Given the description of an element on the screen output the (x, y) to click on. 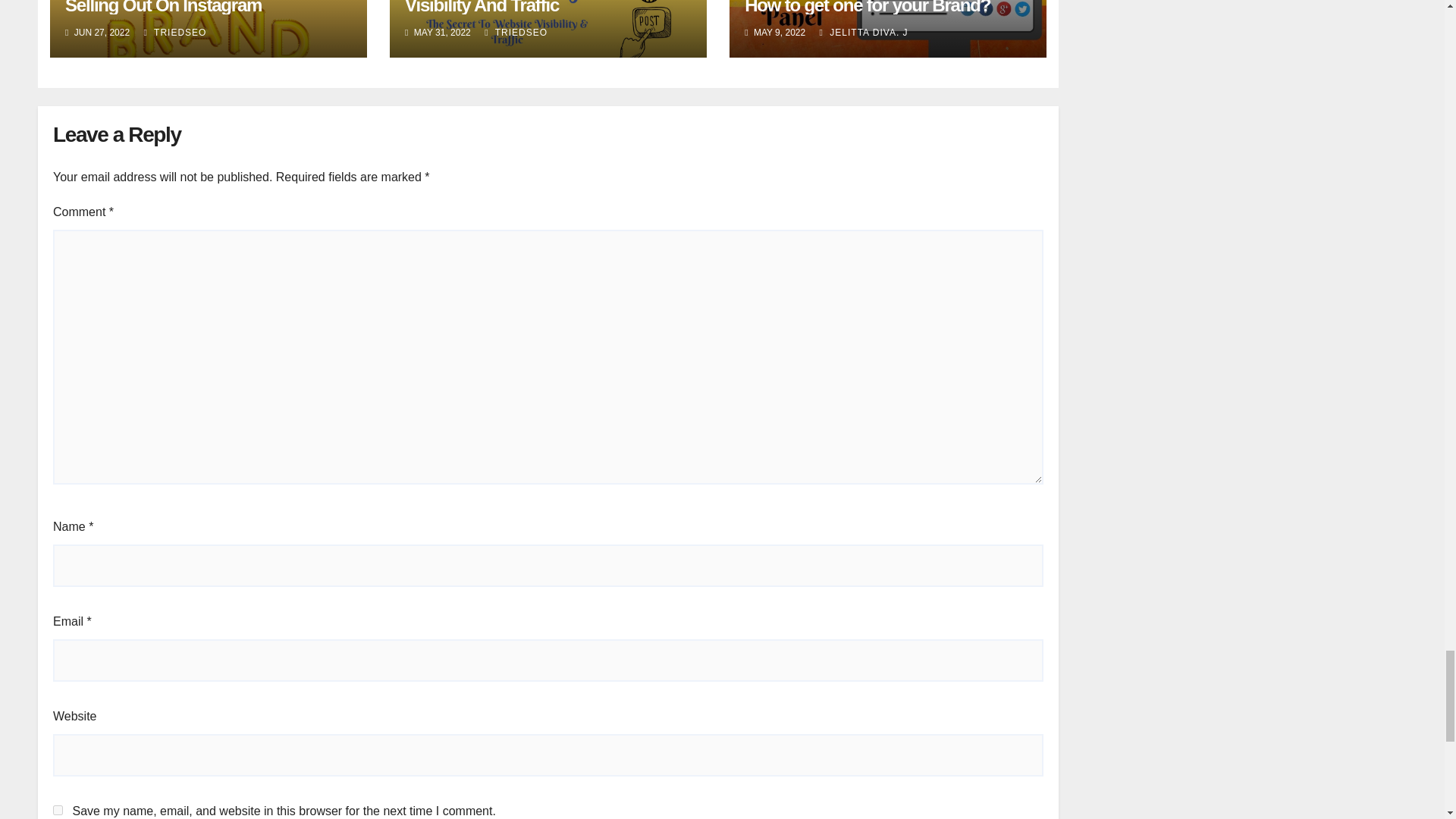
yes (57, 809)
